Given the description of an element on the screen output the (x, y) to click on. 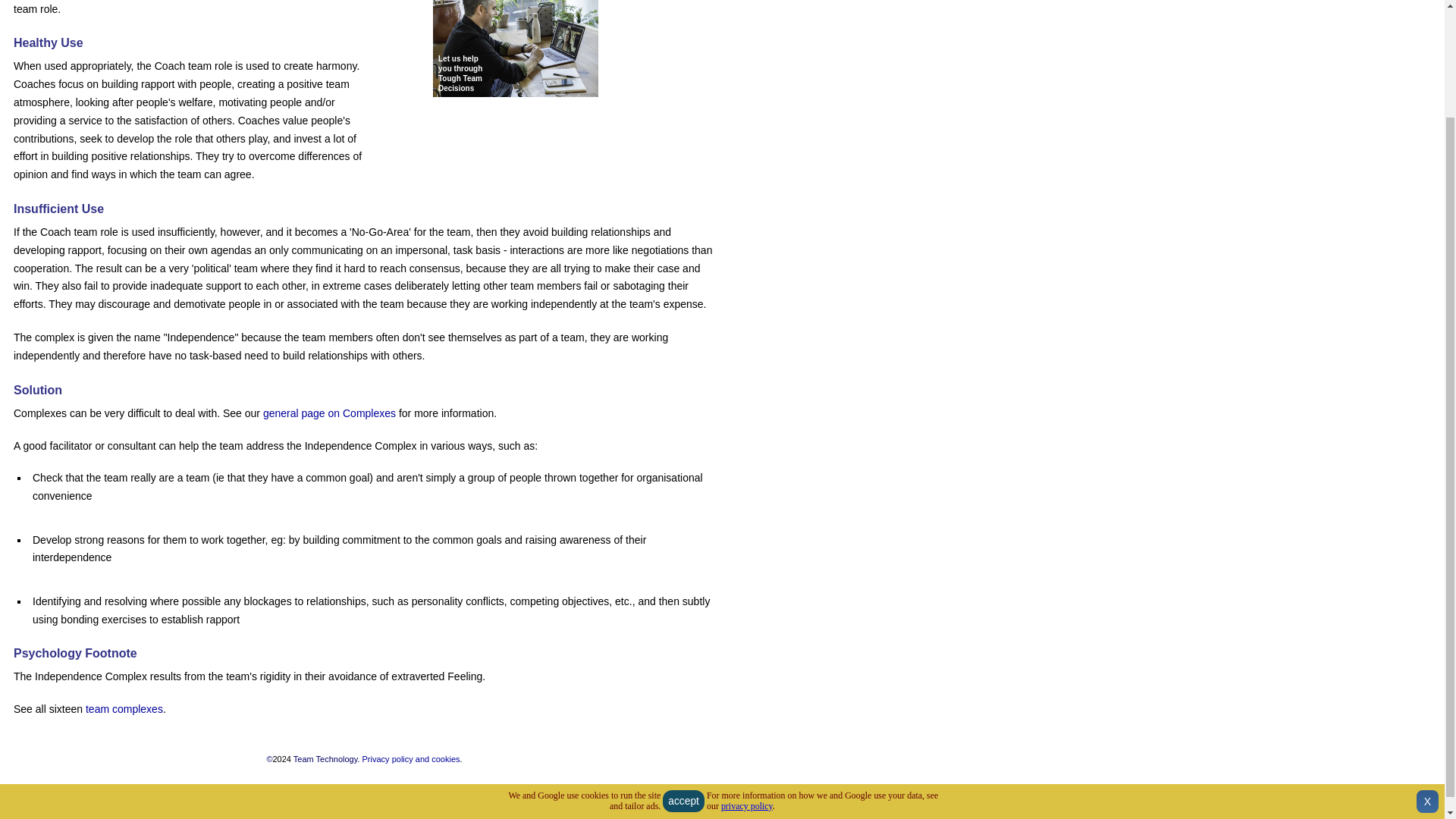
Privacy policy and cookies (411, 758)
team complexes (124, 708)
general page on Complexes (329, 413)
